Given the description of an element on the screen output the (x, y) to click on. 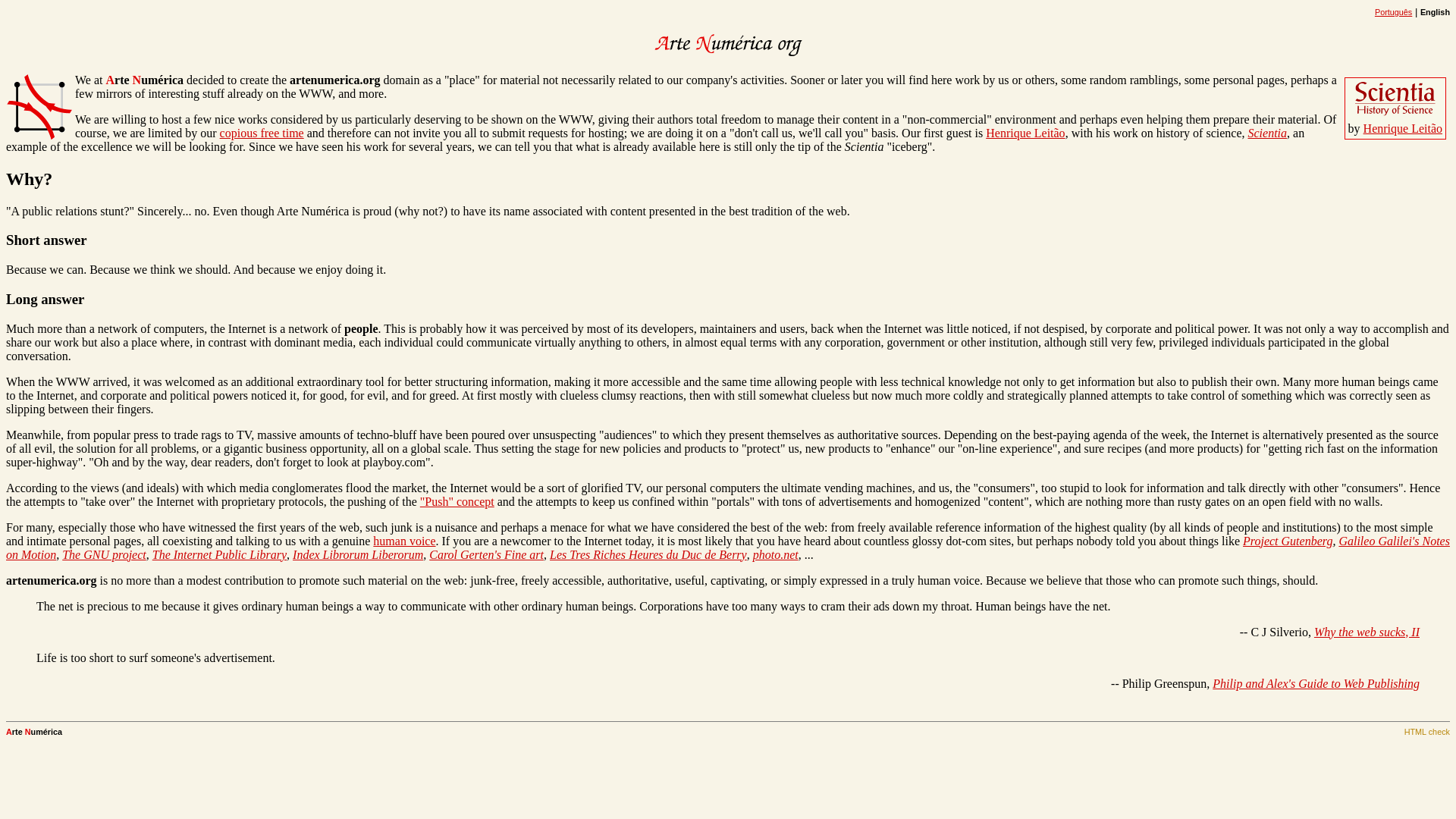
Index Librorum Liberorum (357, 554)
Les Tres Riches Heures du Duc de Berry (648, 554)
human voice (403, 540)
The GNU project (104, 554)
"Push" concept (457, 501)
Philip and Alex's Guide to Web Publishing (1315, 683)
Project Gutenberg (1287, 540)
HTML check (1427, 731)
Why the web sucks, II (1366, 631)
Scientia (1267, 132)
